Given the description of an element on the screen output the (x, y) to click on. 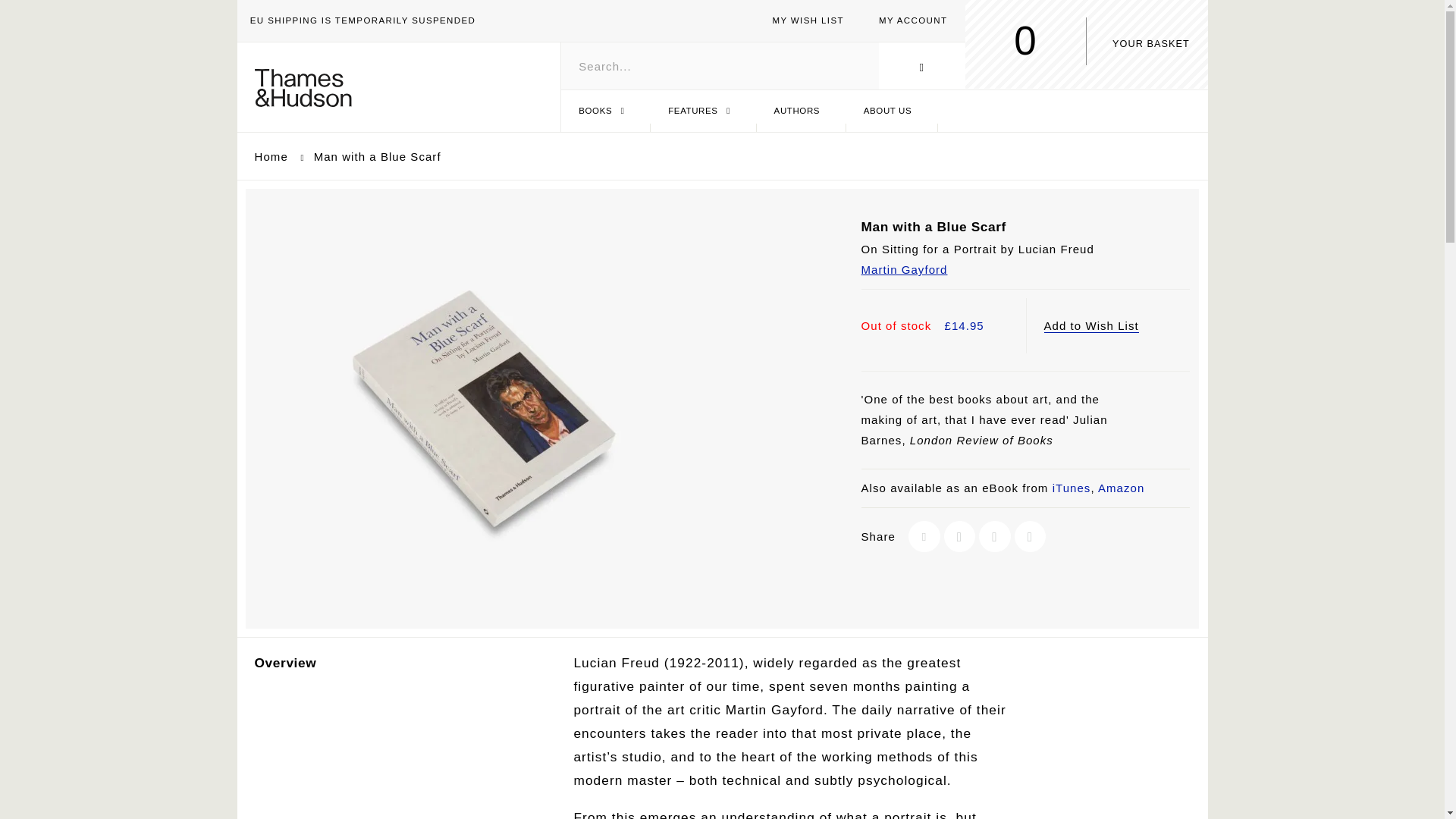
Search (963, 54)
MY ACCOUNT (913, 20)
Go to Home Page (702, 110)
MY WISH LIST (273, 155)
